Given the description of an element on the screen output the (x, y) to click on. 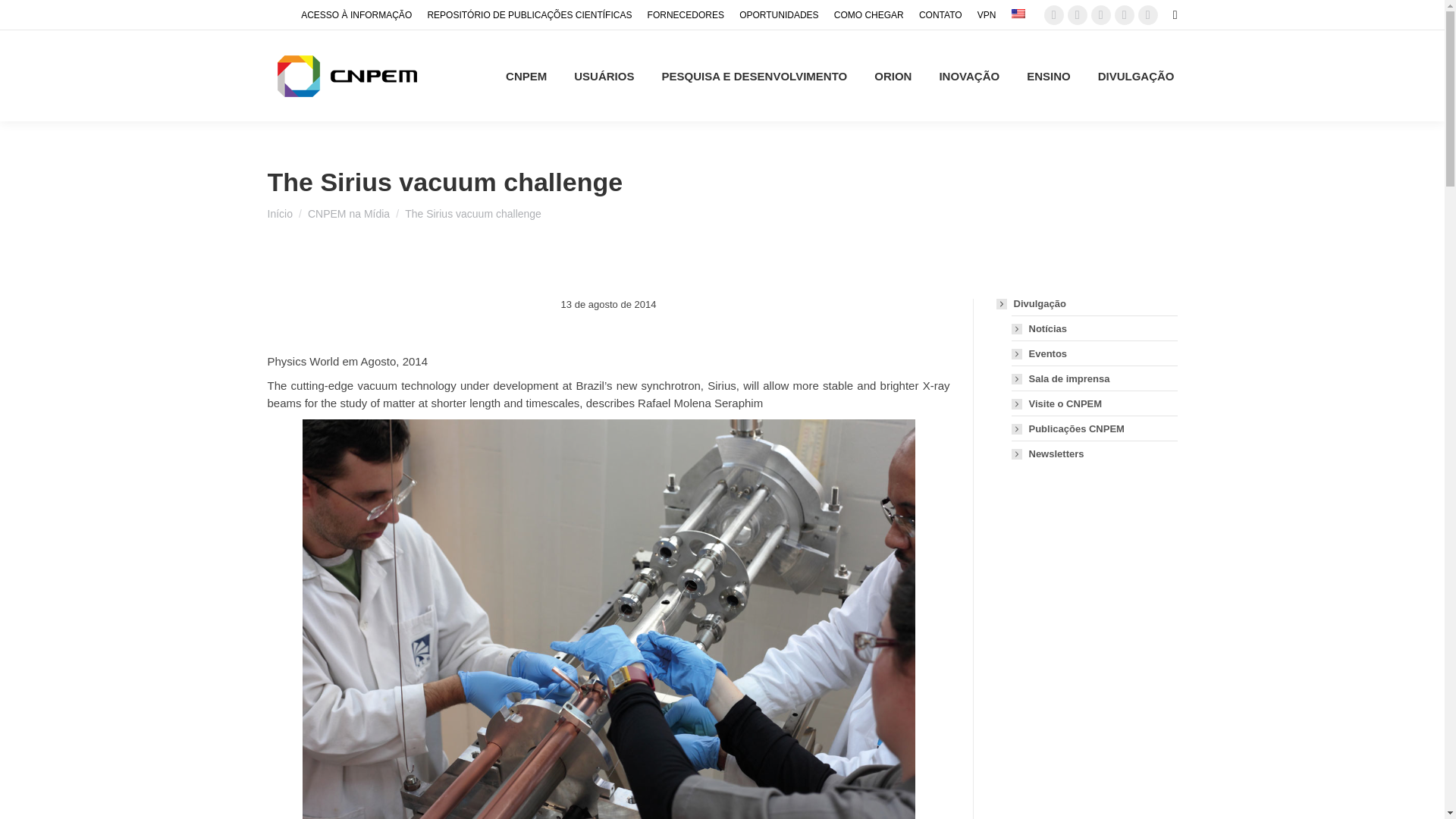
X page opens in new window (1077, 14)
Facebook page opens in new window (1053, 14)
COMO CHEGAR (869, 15)
X page opens in new window (1077, 14)
YouTube page opens in new window (1124, 14)
Facebook page opens in new window (1053, 14)
Linkedin page opens in new window (1147, 14)
Instagram page opens in new window (1100, 14)
YouTube page opens in new window (1124, 14)
VPN (985, 15)
FORNECEDORES (685, 15)
Instagram page opens in new window (1100, 14)
OPORTUNIDADES (778, 15)
Go! (15, 16)
CNPEM (526, 75)
